Given the description of an element on the screen output the (x, y) to click on. 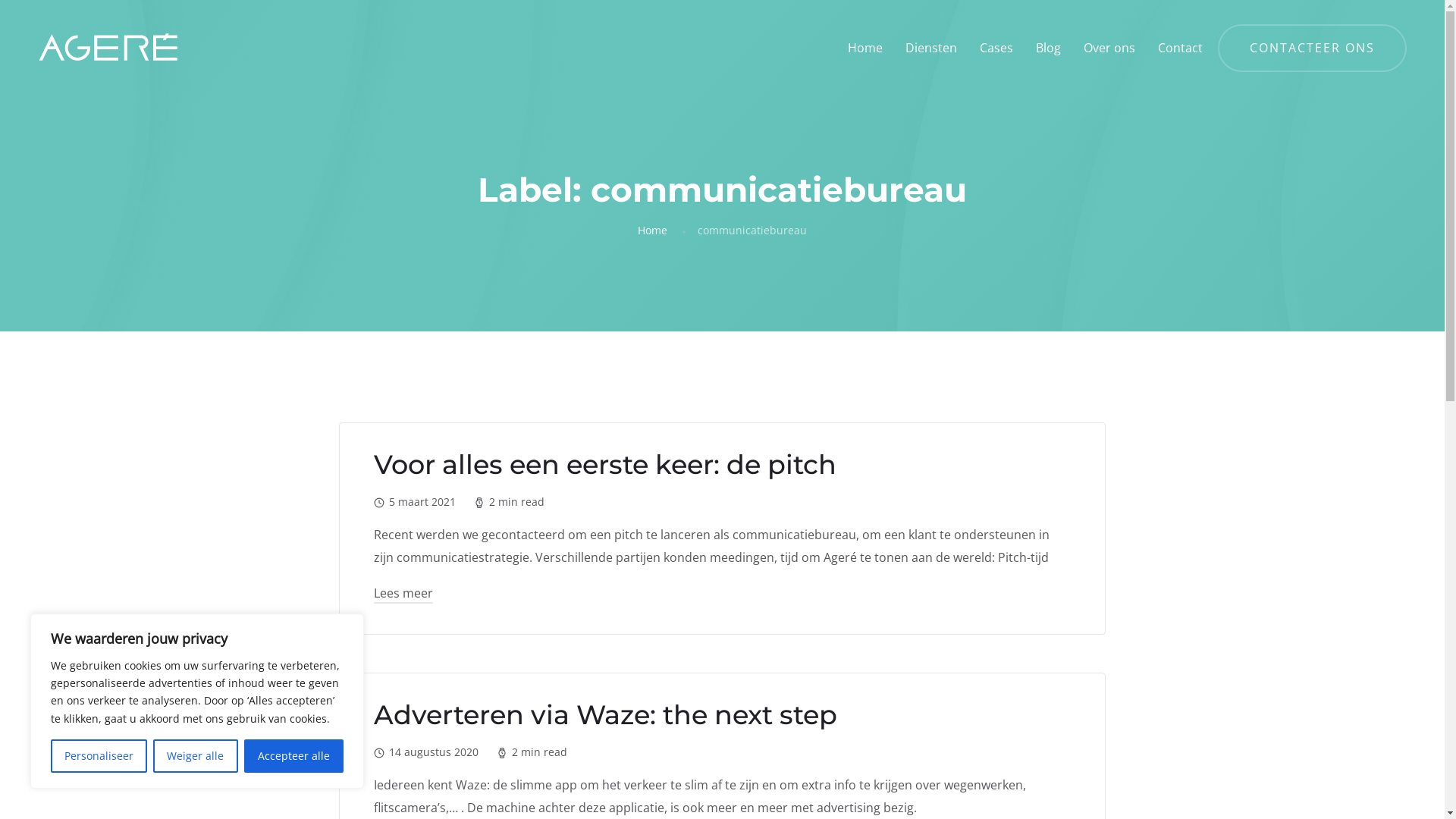
Home Element type: text (652, 229)
Home Element type: text (864, 47)
Lees meer Element type: text (403, 594)
Diensten Element type: text (931, 47)
Over ons Element type: text (1109, 47)
CONTACTEER ONS Element type: text (1311, 48)
Adverteren via Waze: the next step Element type: text (605, 714)
Accepteer alle Element type: text (293, 755)
Personaliseer Element type: text (98, 755)
Cases Element type: text (996, 47)
Blog Element type: text (1047, 47)
Weiger alle Element type: text (195, 755)
Contact Element type: text (1179, 47)
Voor alles een eerste keer: de pitch Element type: text (604, 464)
